Given the description of an element on the screen output the (x, y) to click on. 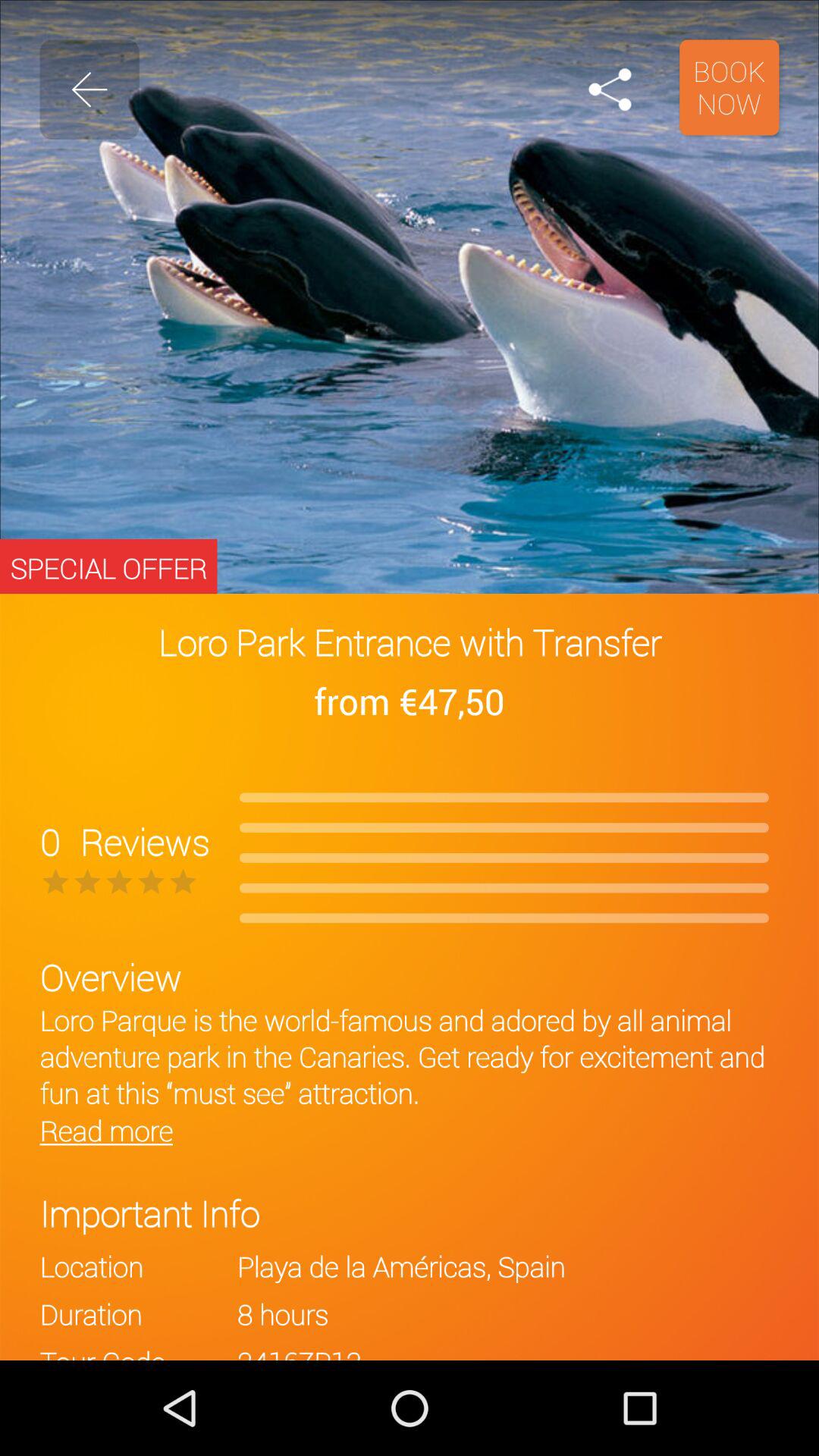
open icon at the top left corner (89, 89)
